Given the description of an element on the screen output the (x, y) to click on. 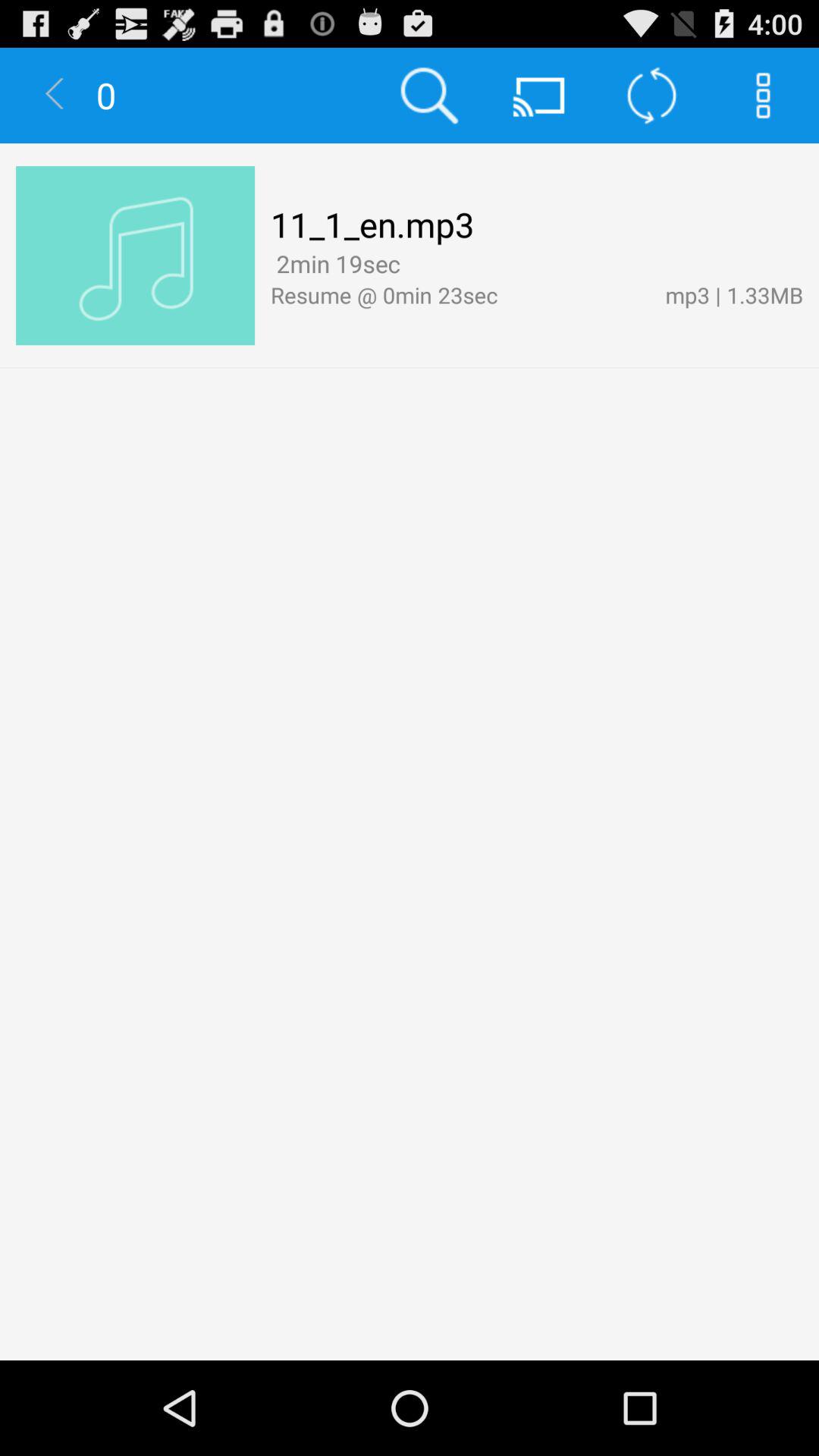
choose the app next to mp3 | 1.33mb (459, 294)
